Given the description of an element on the screen output the (x, y) to click on. 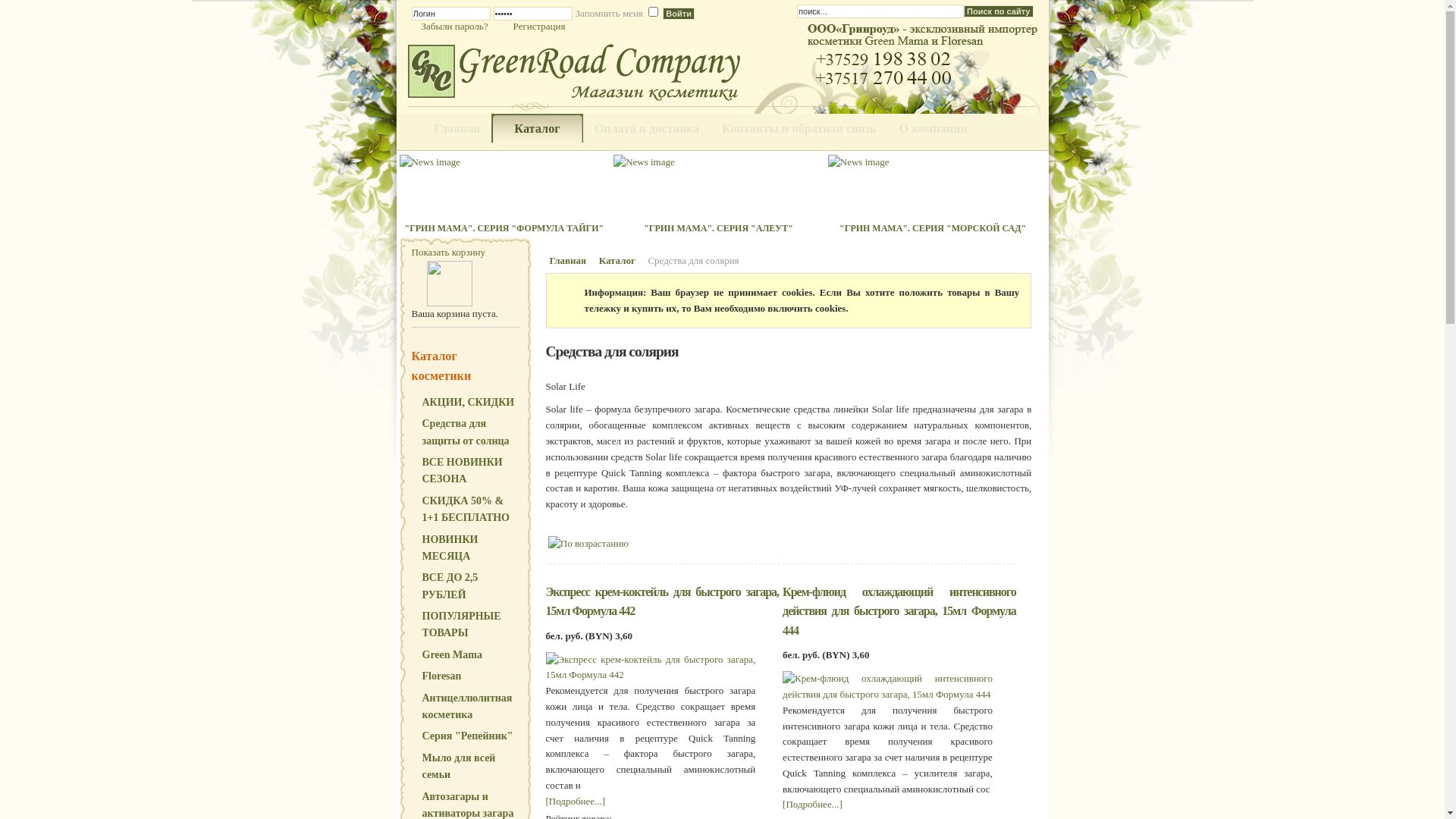
Floresan Element type: text (466, 676)
Green Mama Element type: text (466, 654)
